Given the description of an element on the screen output the (x, y) to click on. 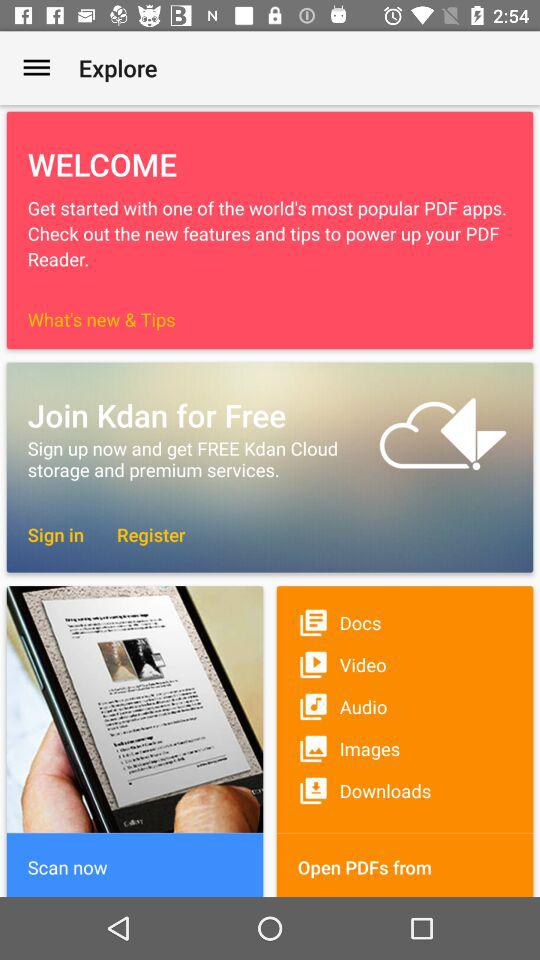
press icon next to sign in item (141, 534)
